Given the description of an element on the screen output the (x, y) to click on. 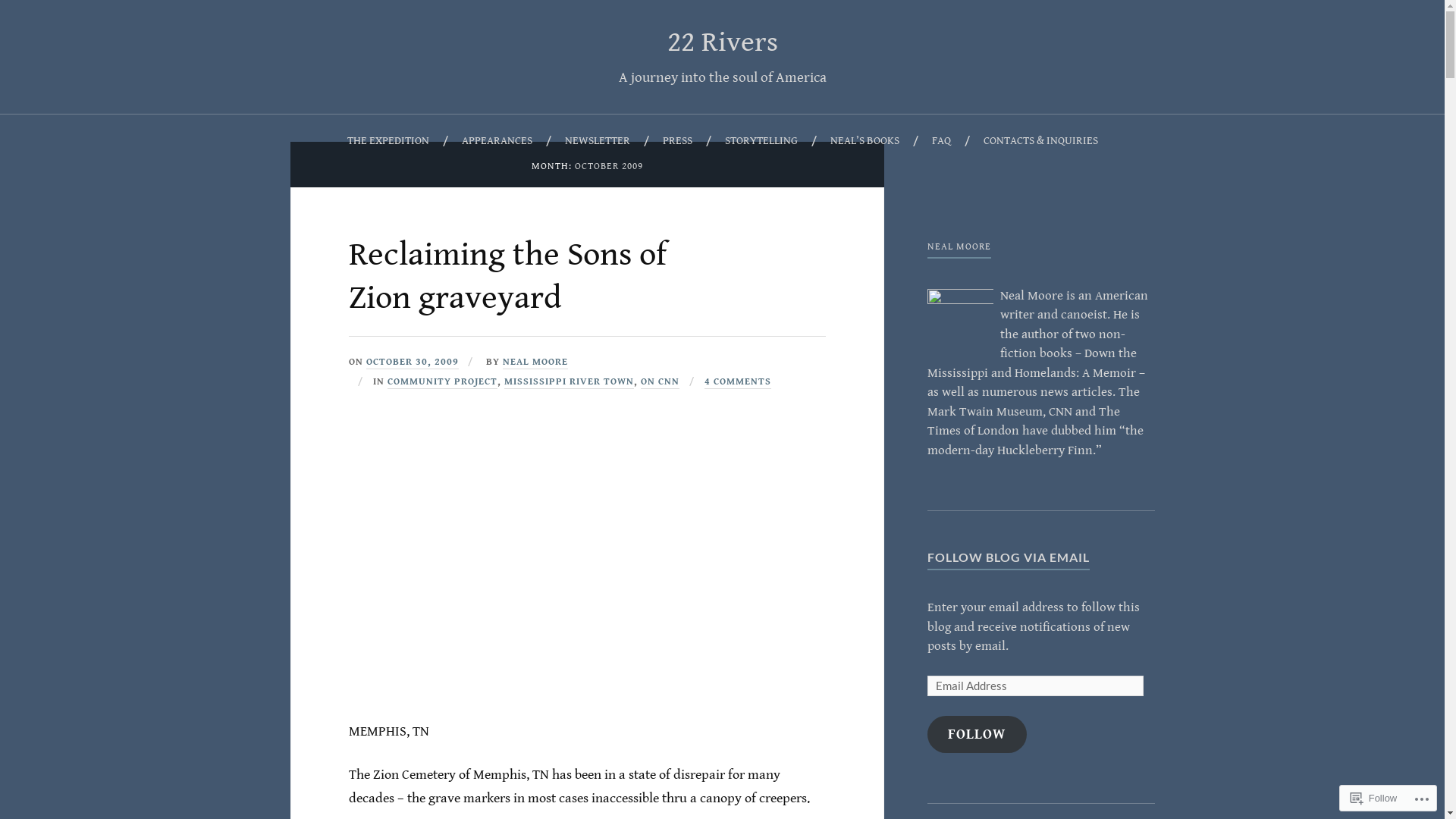
FAQ Element type: text (940, 140)
NEAL MOORE Element type: text (534, 362)
STORYTELLING Element type: text (760, 140)
FOLLOW Element type: text (976, 734)
NEWSLETTER Element type: text (596, 140)
APPEARANCES Element type: text (496, 140)
4 COMMENTS Element type: text (737, 382)
PRESS Element type: text (677, 140)
Reclaiming the Sons of Zion graveyard Element type: text (507, 276)
ON CNN Element type: text (659, 382)
Follow Element type: text (1373, 797)
22 Rivers Element type: text (722, 42)
VideoPress Video Player Element type: hover (586, 564)
CONTACTS & INQUIRIES Element type: text (1039, 140)
THE EXPEDITION Element type: text (388, 140)
MISSISSIPPI RIVER TOWN Element type: text (568, 382)
COMMUNITY PROJECT Element type: text (442, 382)
OCTOBER 30, 2009 Element type: text (412, 362)
